Given the description of an element on the screen output the (x, y) to click on. 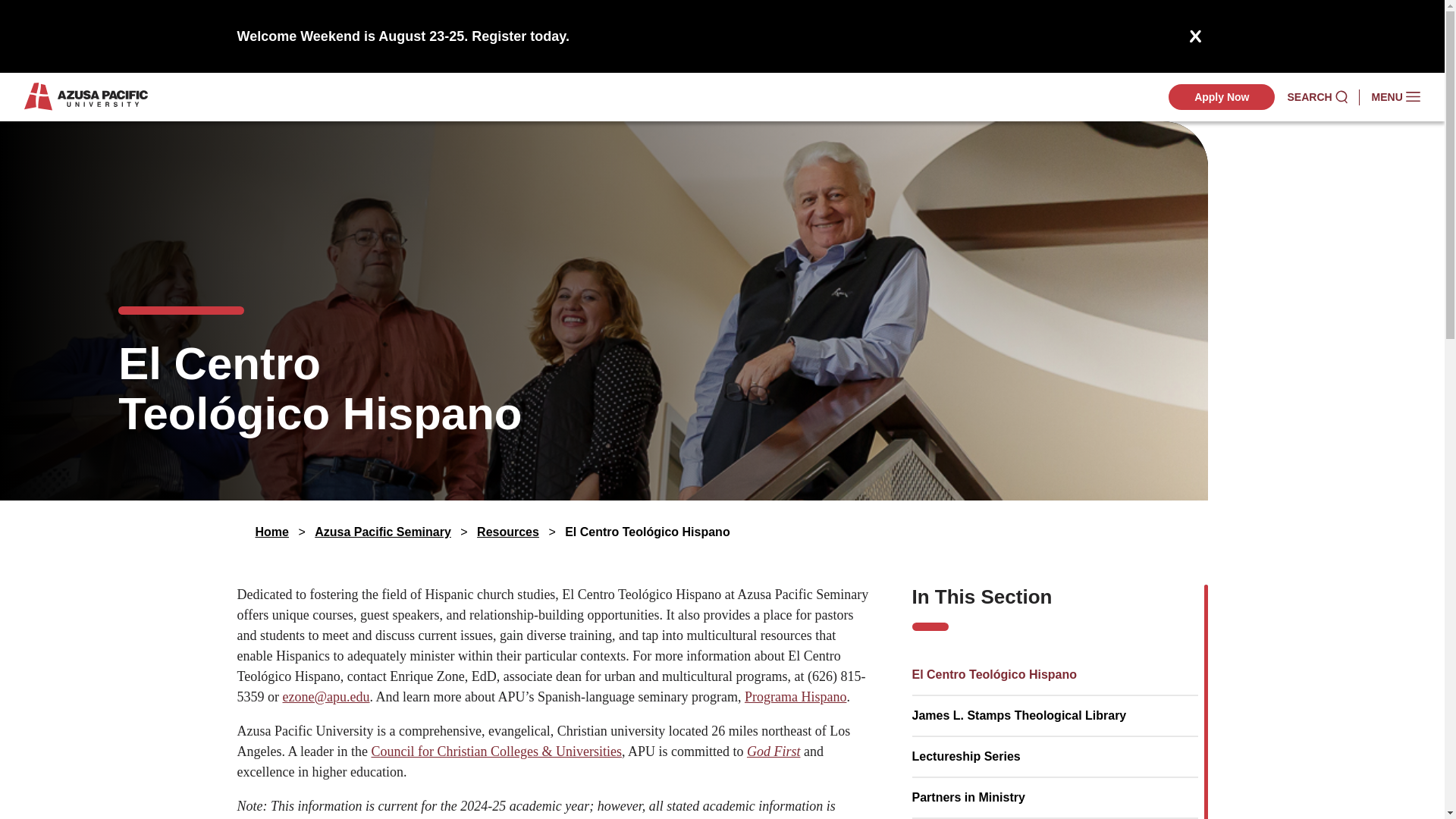
MENU (1396, 97)
SEARCH (1316, 97)
Welcome Weekend is August 23-25. Register today. (402, 36)
Skip to main content (722, 22)
Apply Now (1222, 96)
